Given the description of an element on the screen output the (x, y) to click on. 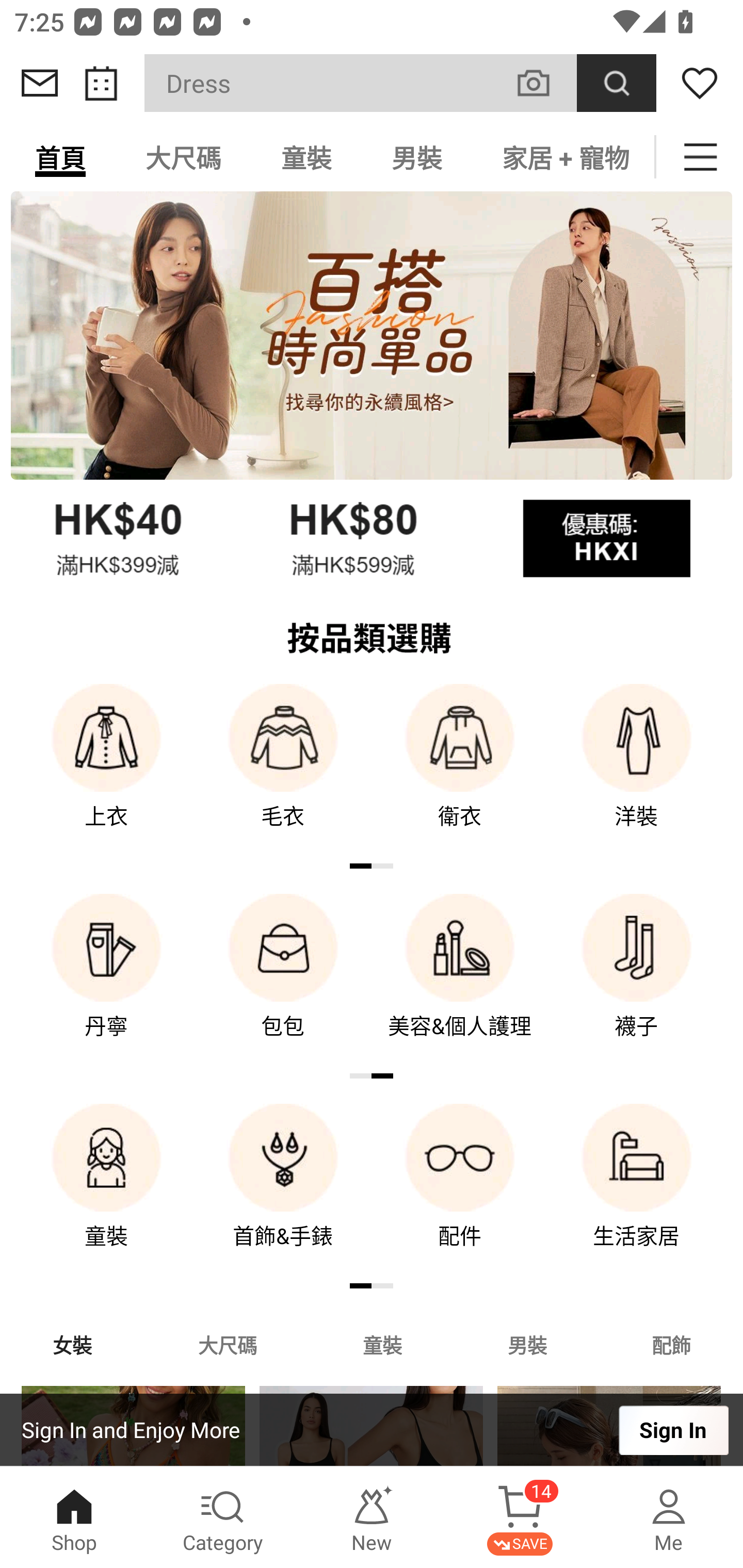
Wishlist (699, 82)
VISUAL SEARCH (543, 82)
首頁 (60, 156)
大尺碼 (183, 156)
童裝 (306, 156)
男裝 (416, 156)
家居 + 寵物 (563, 156)
上衣 (105, 769)
毛衣 (282, 769)
衛衣 (459, 769)
洋裝 (636, 769)
丹寧 (105, 979)
包包 (282, 979)
美容&個人護理 (459, 979)
襪子 (636, 979)
童裝 (105, 1189)
首飾&手錶 (282, 1189)
配件 (459, 1189)
生活家居 (636, 1189)
女裝 (72, 1344)
大尺碼 (226, 1344)
童裝 (381, 1344)
男裝 (527, 1344)
配飾 (671, 1344)
Sign In and Enjoy More Sign In (371, 1429)
Category (222, 1517)
New (371, 1517)
Cart 14 SAVE (519, 1517)
Me (668, 1517)
